Given the description of an element on the screen output the (x, y) to click on. 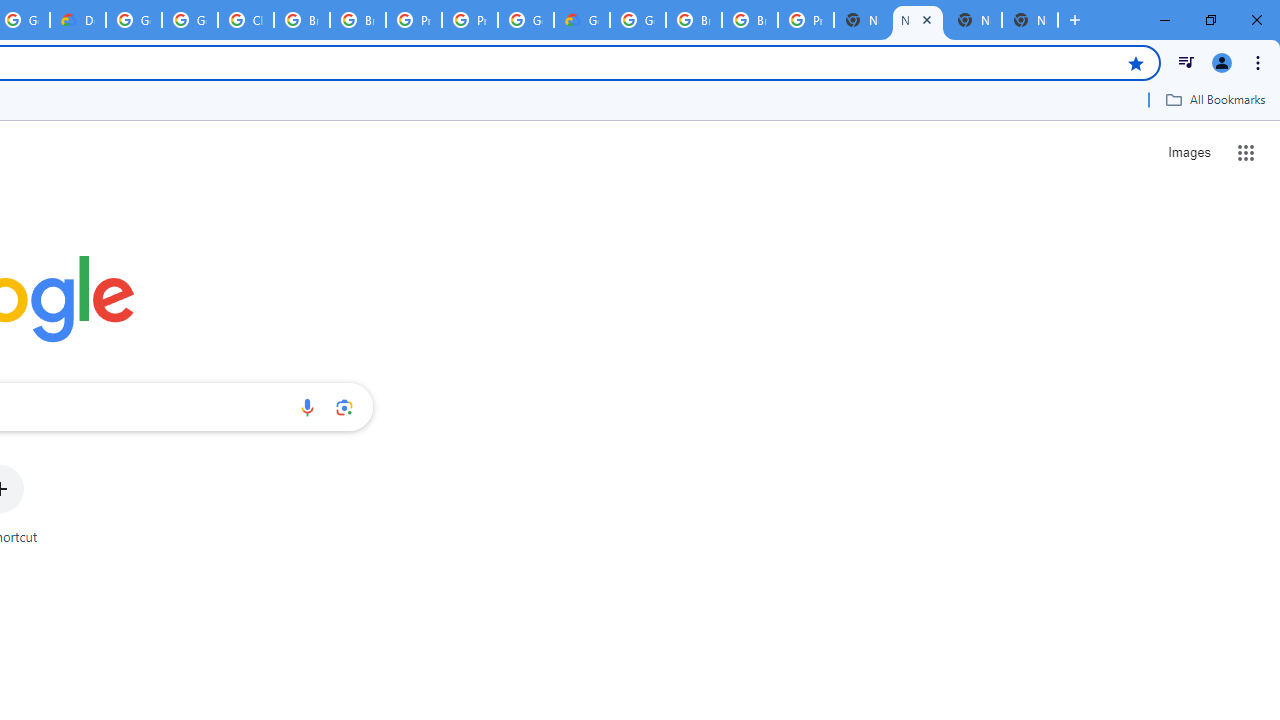
Google Cloud Platform (134, 20)
Google Cloud Platform (637, 20)
Browse Chrome as a guest - Computer - Google Chrome Help (693, 20)
